Given the description of an element on the screen output the (x, y) to click on. 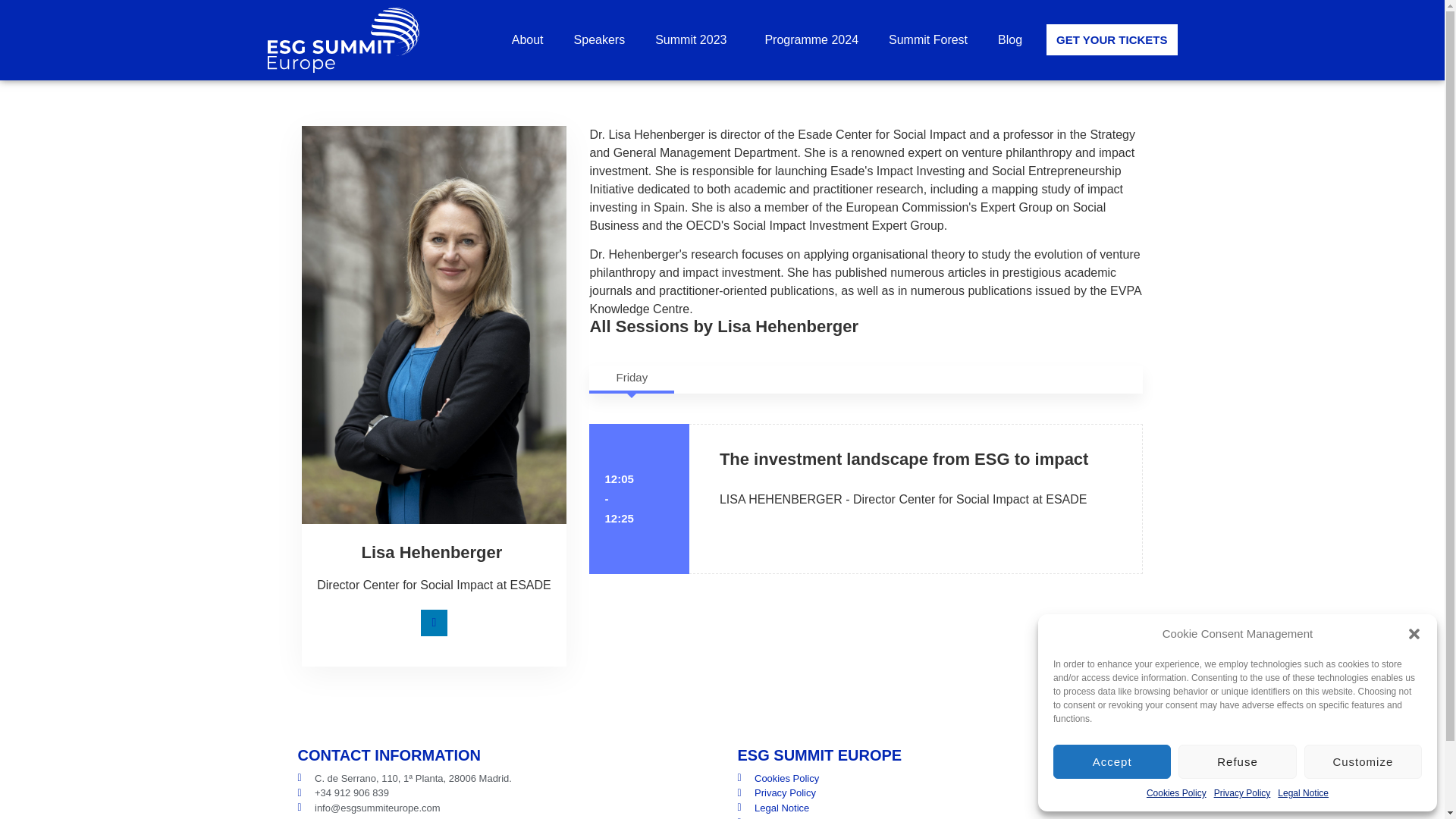
Summit Forest (928, 39)
Programme 2024 (811, 39)
Speakers (599, 39)
Refuse (1236, 761)
Privacy Policy (1242, 793)
Blog (1009, 39)
Legal Notice (1302, 793)
Accept (1111, 761)
Customize (1363, 761)
About (527, 39)
Cookies Policy (1177, 793)
Summit 2023 (694, 39)
GET YOUR TICKETS (1111, 39)
